Given the description of an element on the screen output the (x, y) to click on. 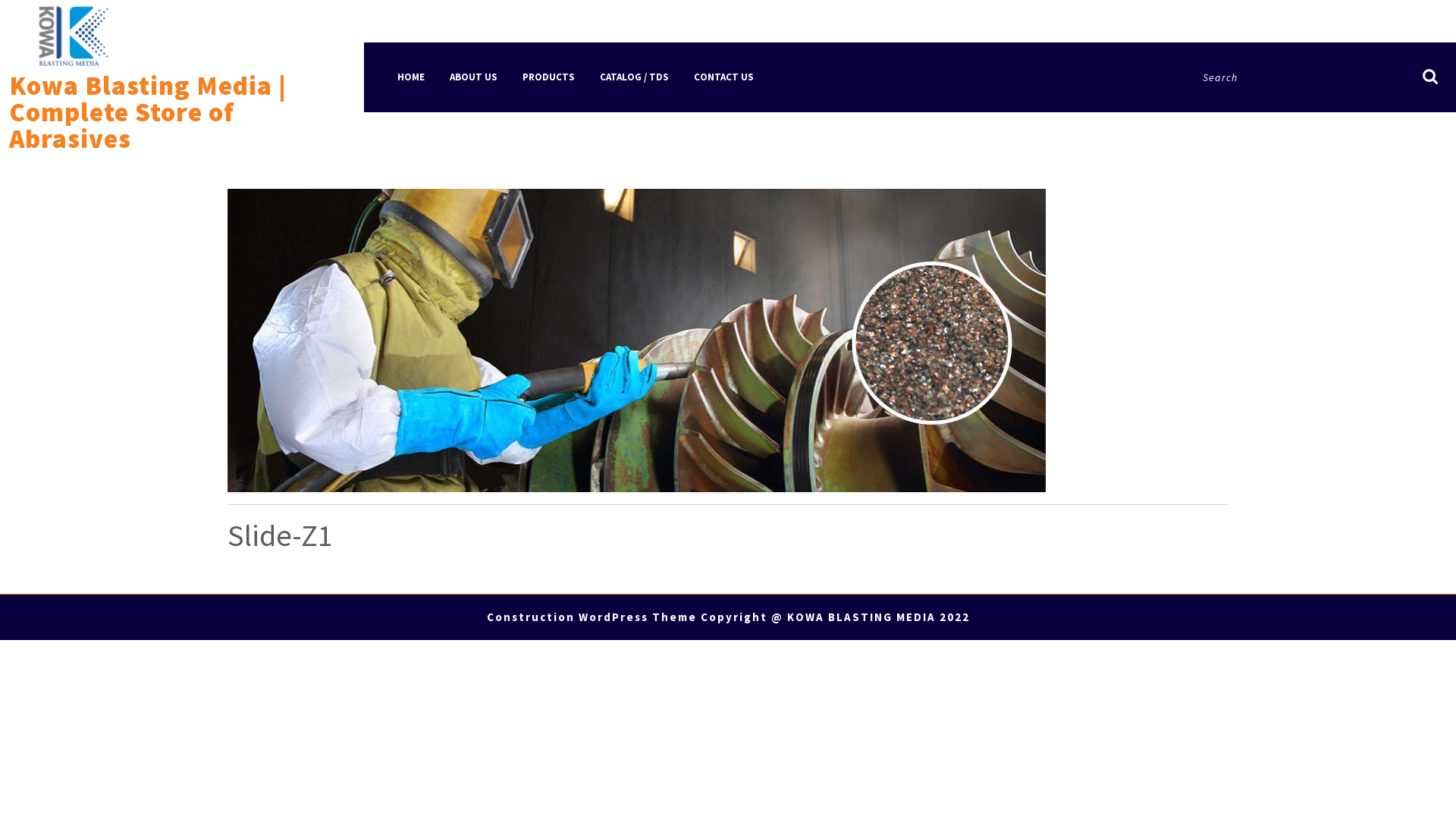
Construction WordPress Theme Element type: text (591, 616)
Kowa Blasting Media | Complete Store of Abrasives Element type: text (147, 112)
HOME Element type: text (410, 76)
PRODUCTS Element type: text (548, 76)
CATALOG / TDS Element type: text (634, 76)
ABOUT US Element type: text (473, 76)
Search Element type: text (1429, 84)
CONTACT US Element type: text (723, 76)
